Given the description of an element on the screen output the (x, y) to click on. 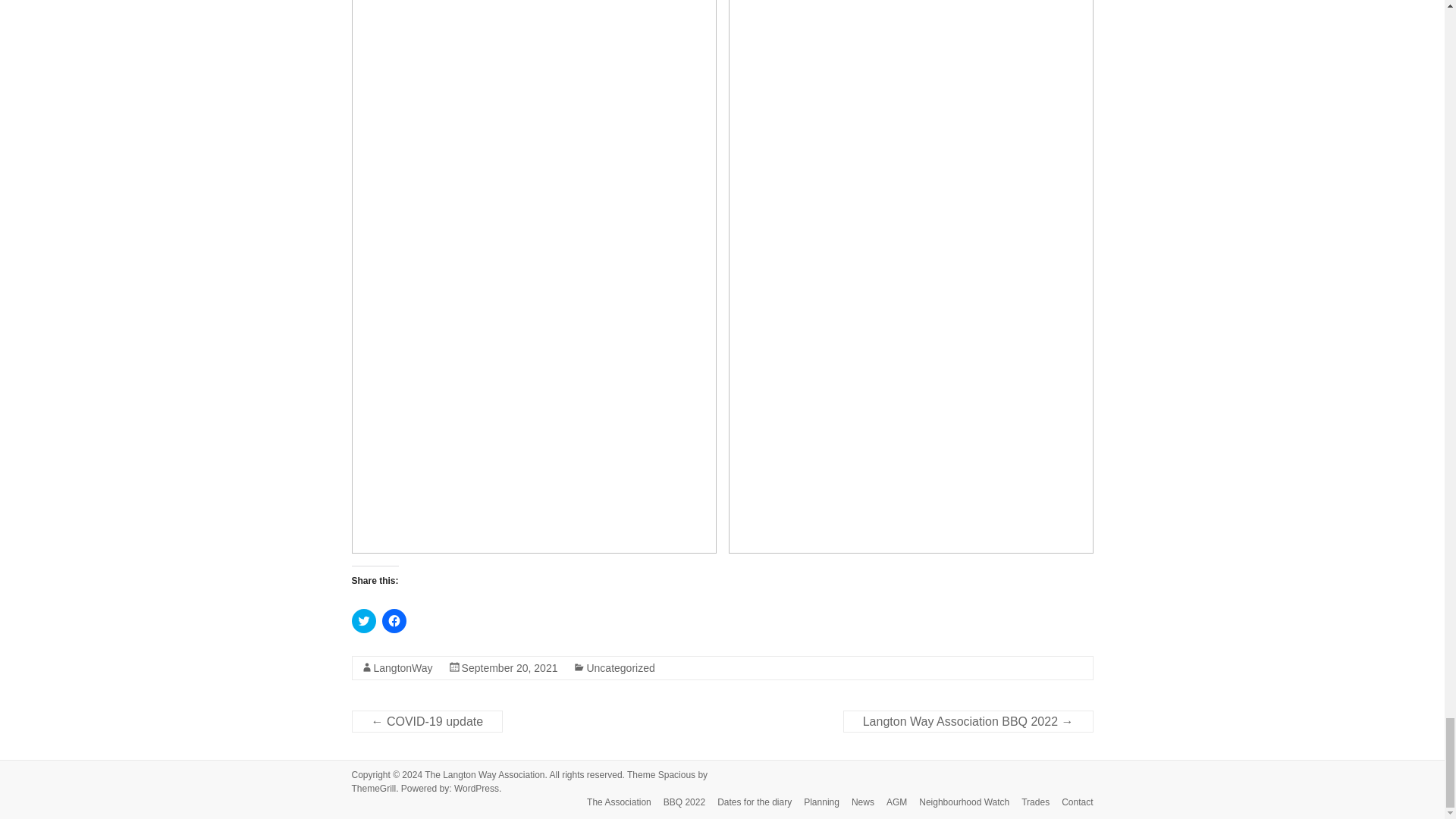
Neighbourhood Watch (958, 803)
LangtonWay (402, 667)
Uncategorized (619, 667)
Contact (1071, 803)
September 20, 2021 (509, 667)
Spacious (676, 774)
The Langton Way Association (484, 774)
BBQ 2022 (677, 803)
Trades (1029, 803)
WordPress (476, 787)
